Given the description of an element on the screen output the (x, y) to click on. 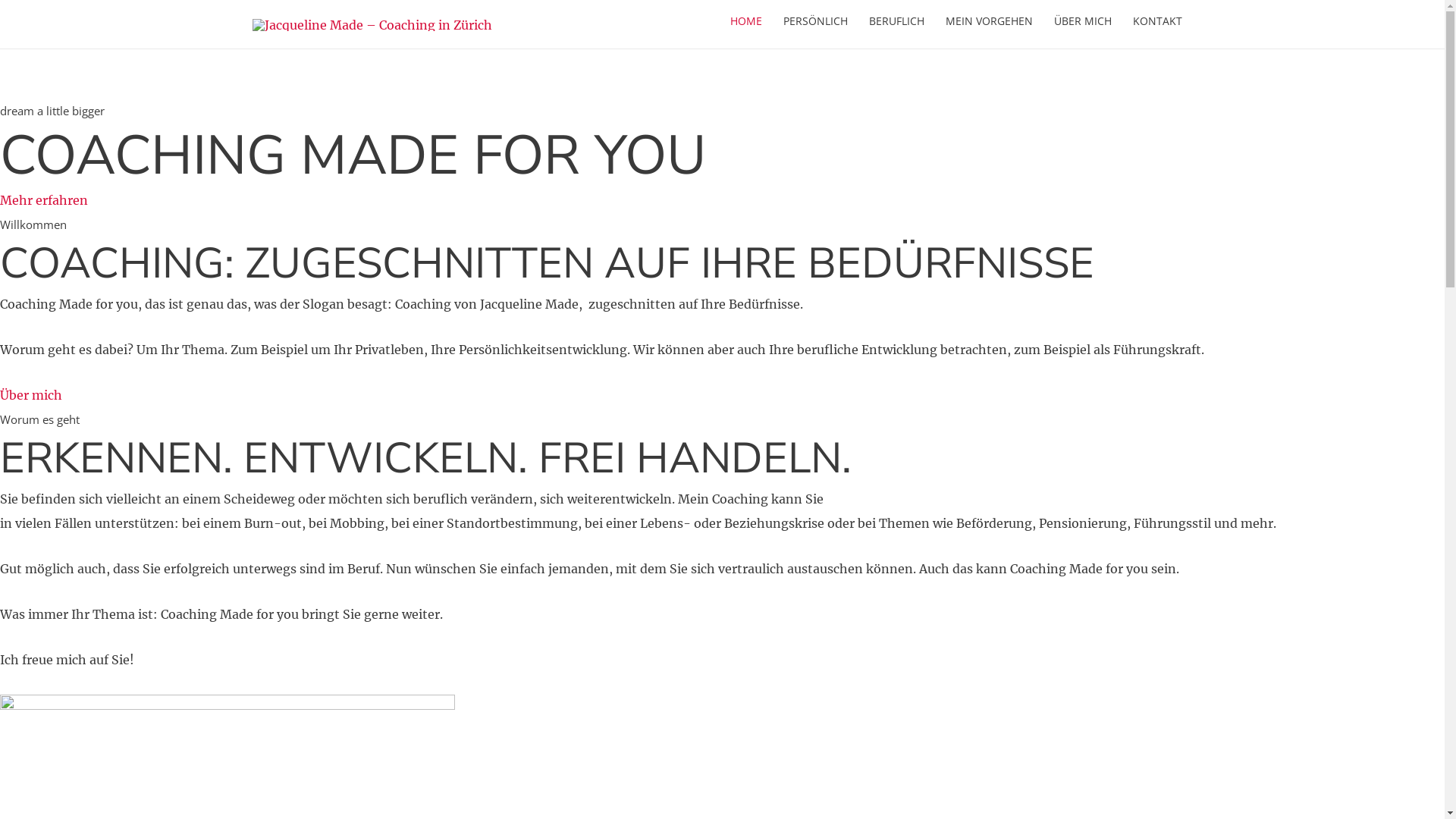
MEIN VORGEHEN Element type: text (988, 21)
BERUFLICH Element type: text (896, 21)
Mehr erfahren Element type: text (43, 199)
KONTAKT Element type: text (1157, 21)
HOME Element type: text (744, 21)
